Given the description of an element on the screen output the (x, y) to click on. 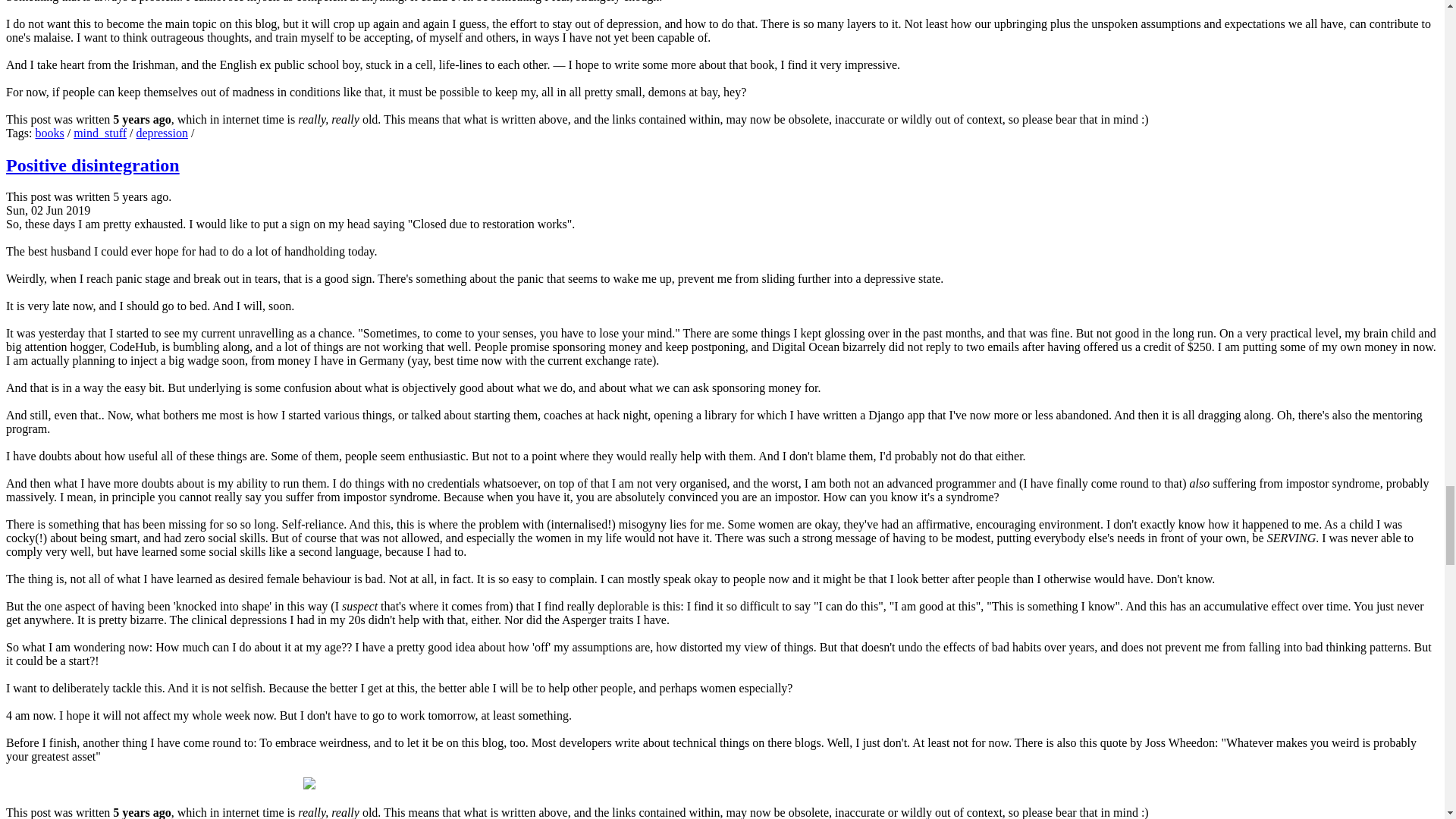
books (49, 132)
depression (161, 132)
